Given the description of an element on the screen output the (x, y) to click on. 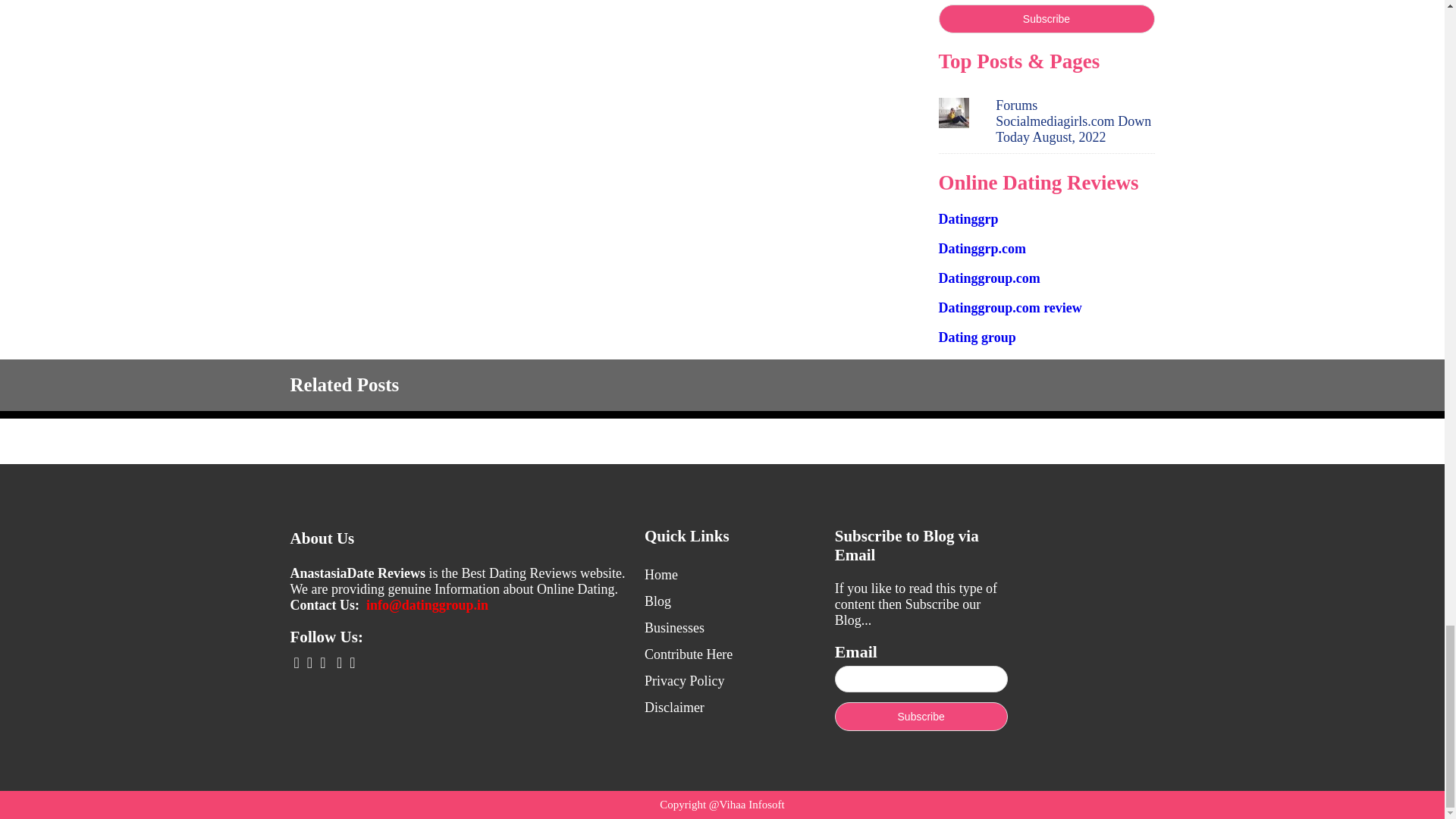
Subscribe (920, 716)
Subscribe (1046, 18)
Forums Socialmediagirls.com Down Today August, 2022 (1073, 120)
